Given the description of an element on the screen output the (x, y) to click on. 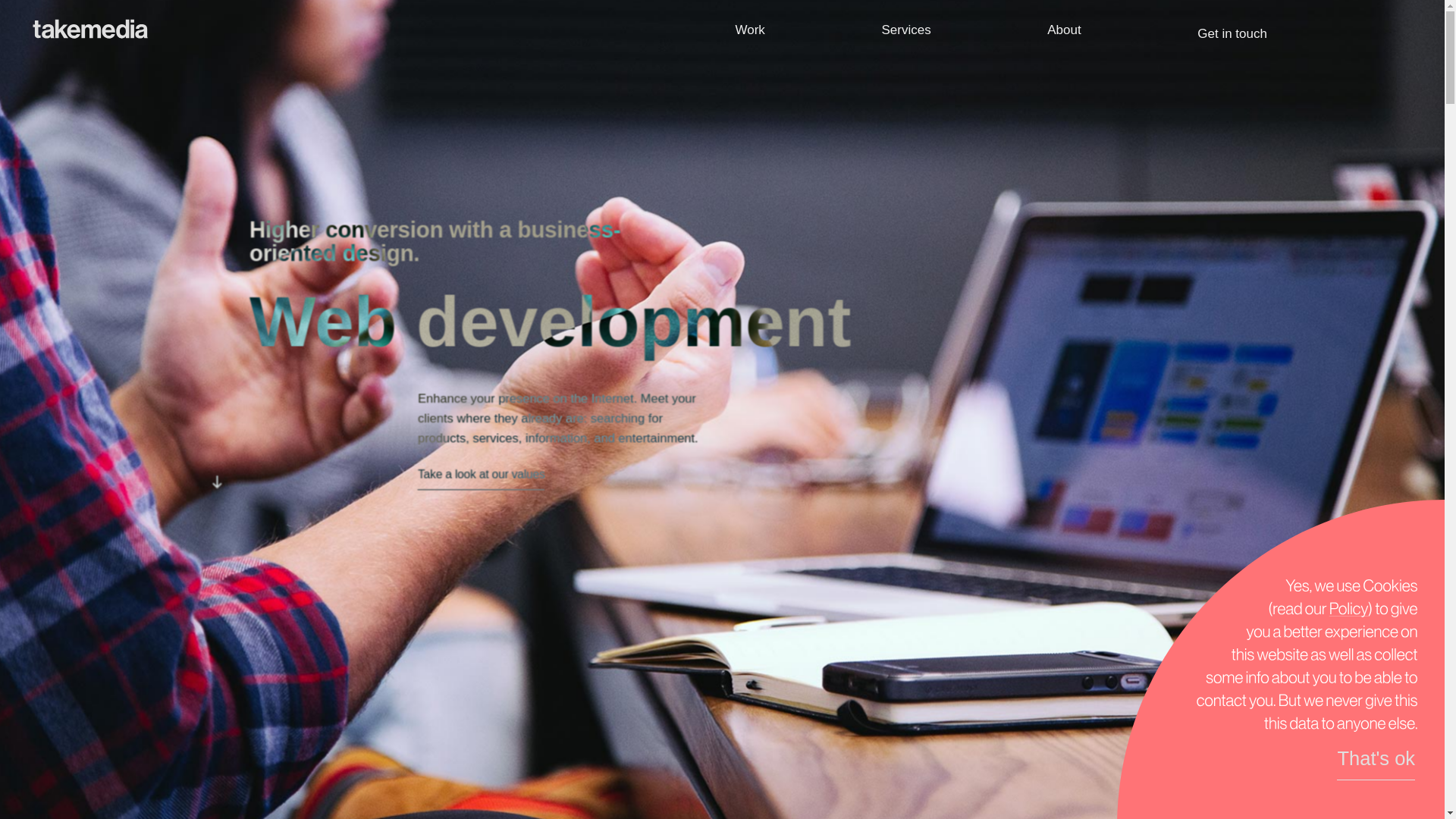
Brand development (936, 68)
That's ok (1375, 758)
Get in touch (1231, 33)
Take a look at our values (483, 475)
Work (750, 29)
About (1063, 29)
Web development (932, 83)
Services (905, 29)
